Given the description of an element on the screen output the (x, y) to click on. 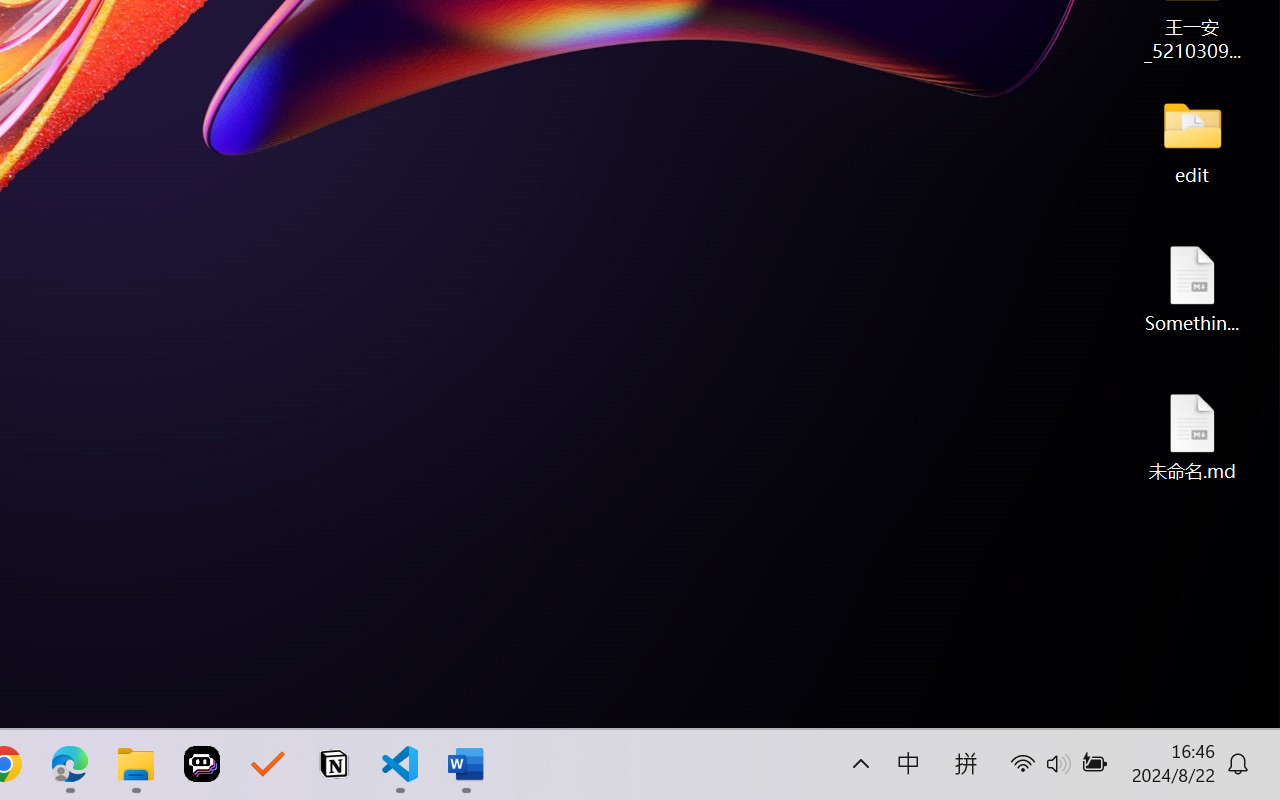
Something.md (1192, 288)
edit (1192, 140)
